Given the description of an element on the screen output the (x, y) to click on. 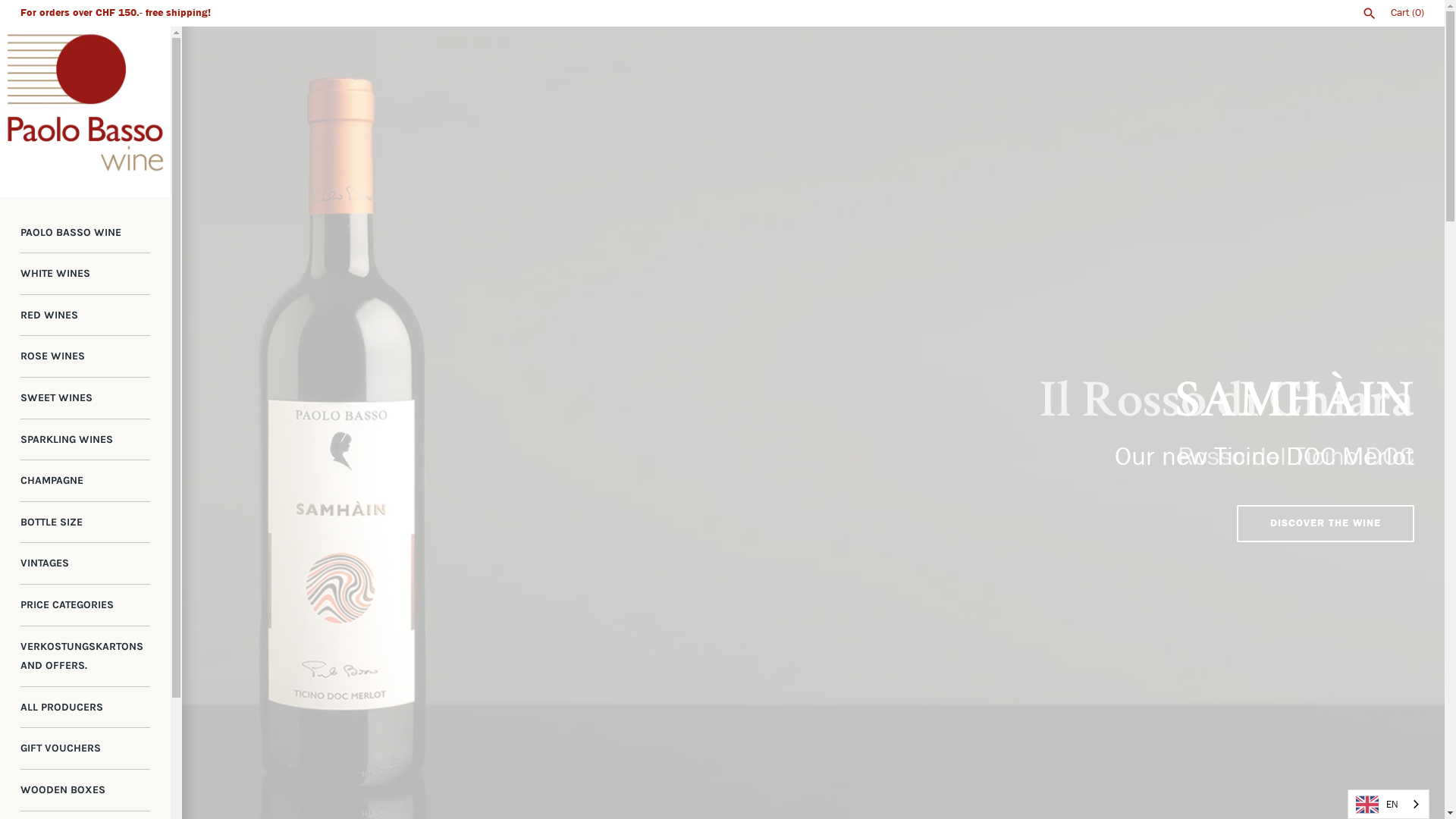
BOTTLE SIZE Element type: text (85, 522)
SPARKLING WINES Element type: text (85, 440)
PAOLO BASSO WINE Element type: text (85, 233)
VINTAGES Element type: text (85, 563)
WHITE WINES Element type: text (85, 273)
WOODEN BOXES Element type: text (85, 790)
Cart (0) Element type: text (1407, 12)
Paolo Basso Wine Ltd. Element type: hover (85, 111)
CHAMPAGNE Element type: text (85, 481)
GIFT VOUCHERS Element type: text (85, 748)
VERKOSTUNGSKARTONS AND OFFERS. Element type: text (85, 656)
SWEET WINES Element type: text (85, 398)
RED WINES Element type: text (85, 315)
ALL PRODUCERS Element type: text (85, 707)
ROSE WINES Element type: text (85, 356)
EN Element type: text (1388, 804)
PRICE CATEGORIES Element type: text (85, 605)
